Given the description of an element on the screen output the (x, y) to click on. 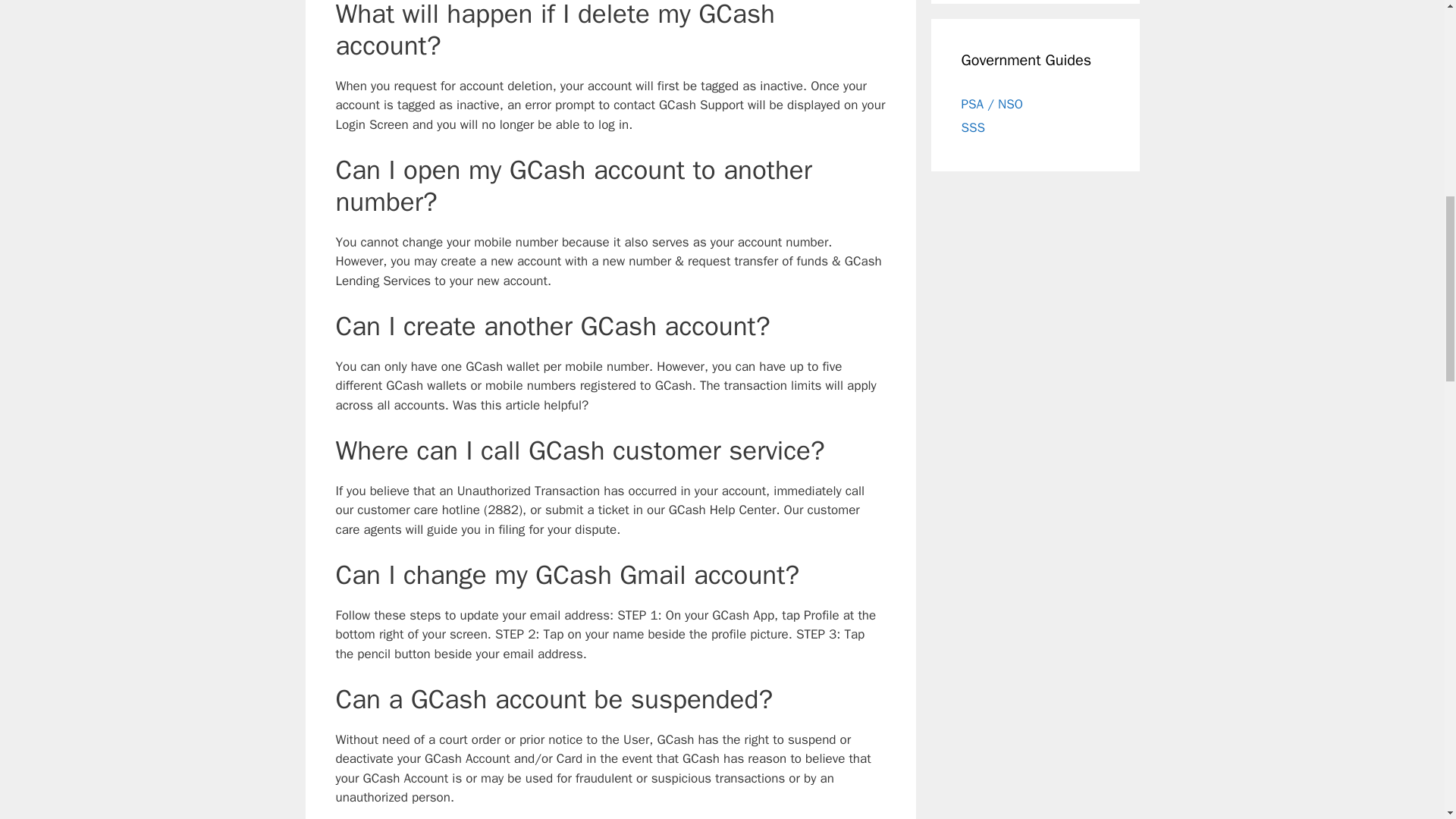
SSS (972, 127)
